Given the description of an element on the screen output the (x, y) to click on. 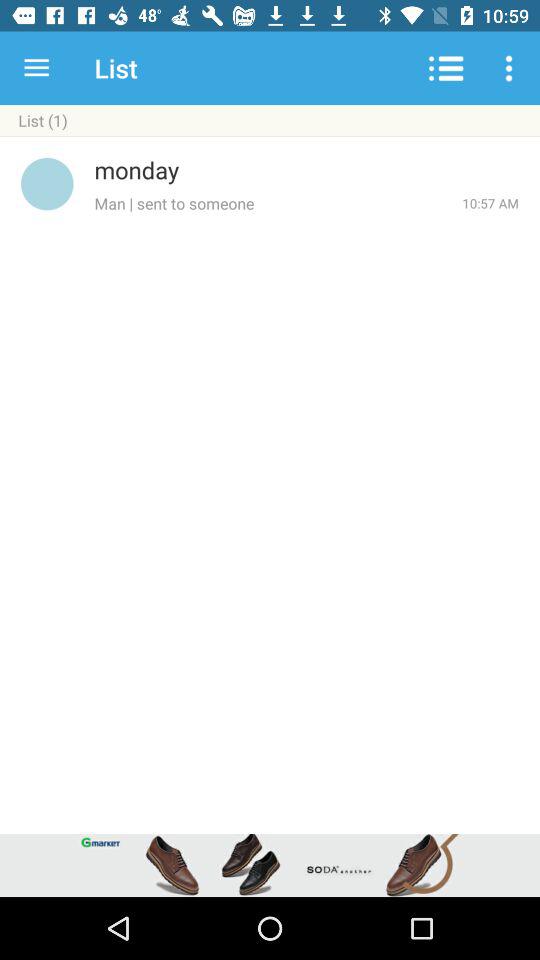
click the icon below the monday icon (490, 203)
